Given the description of an element on the screen output the (x, y) to click on. 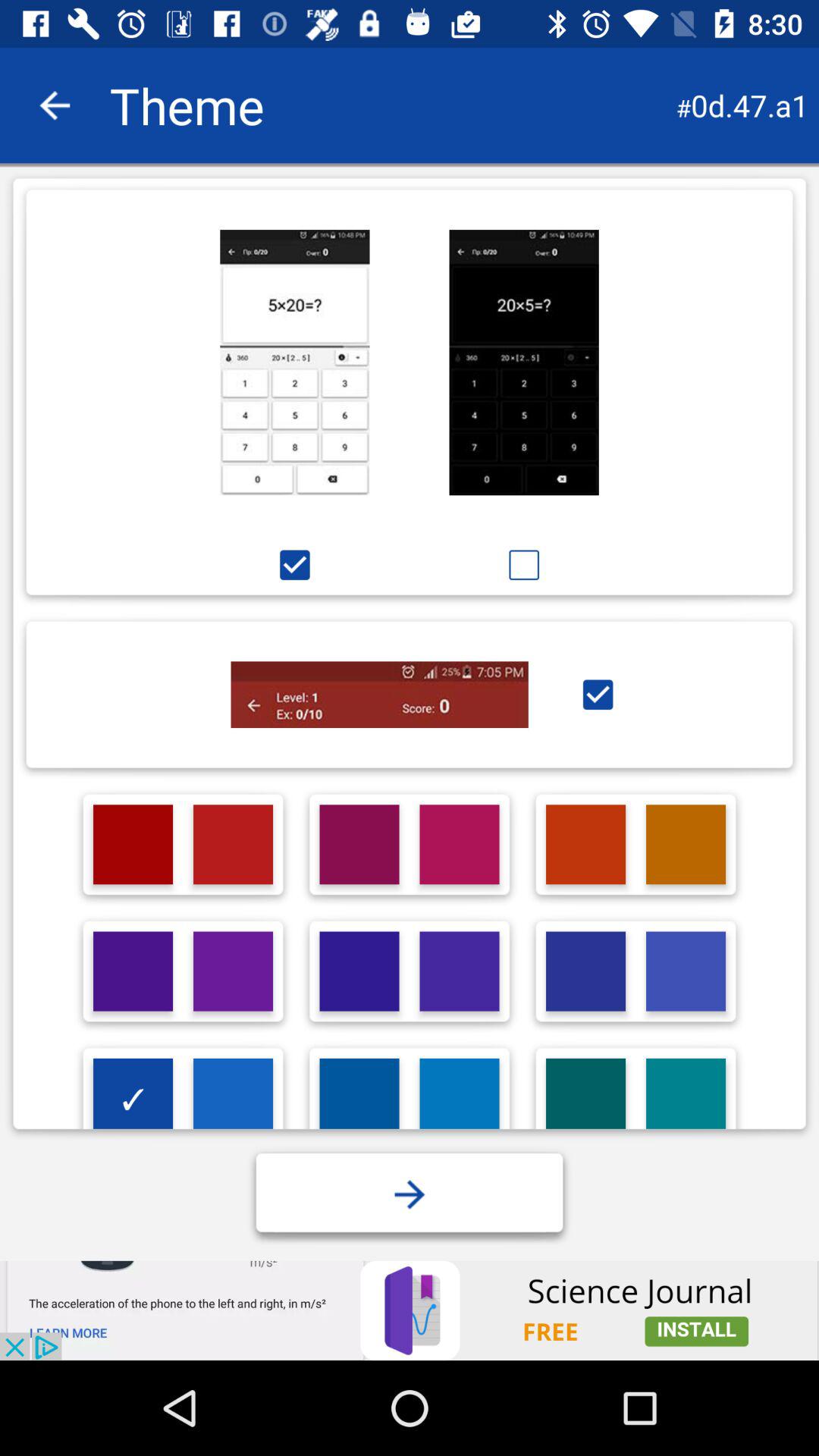
calculator (294, 362)
